Given the description of an element on the screen output the (x, y) to click on. 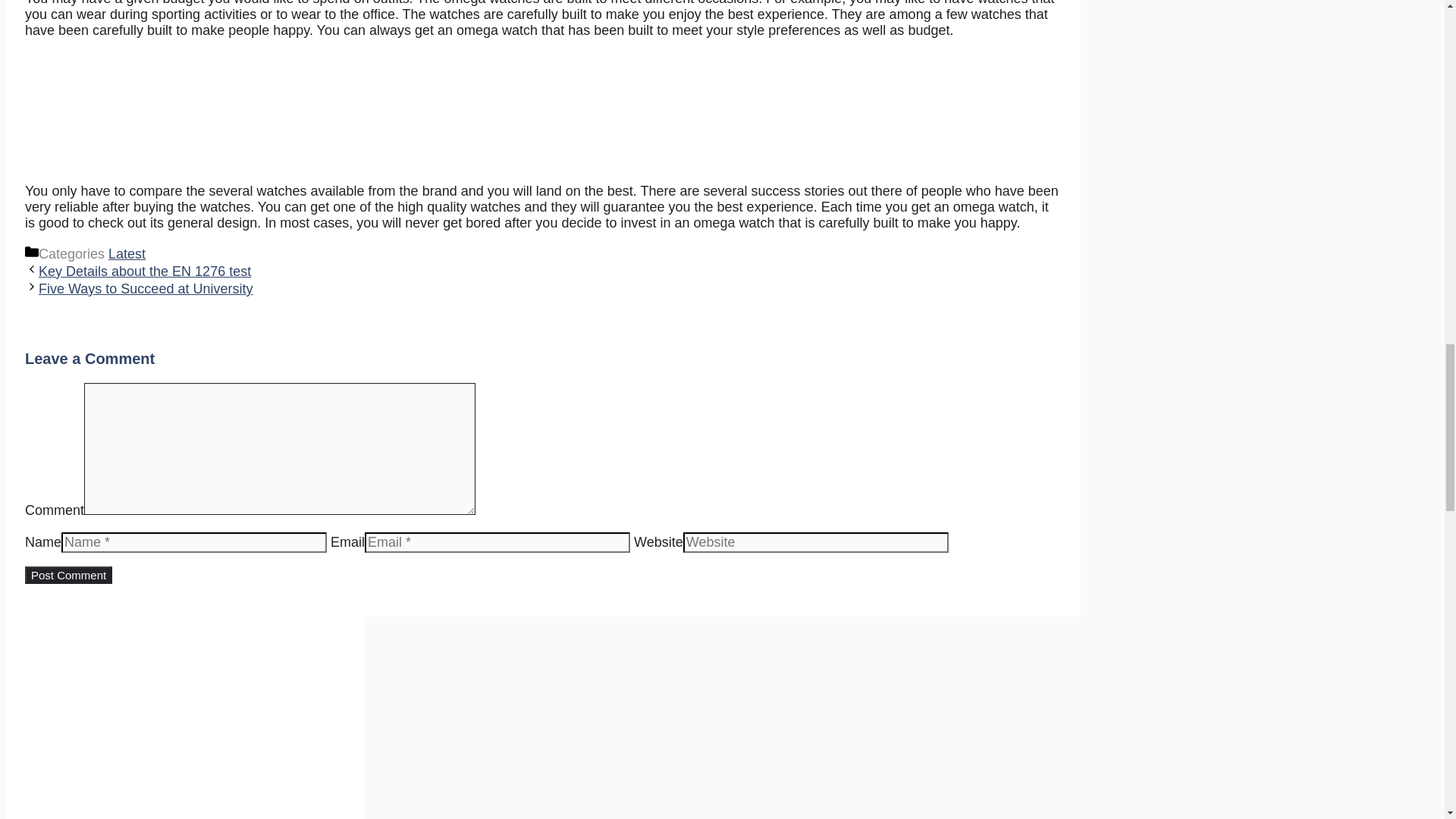
Post Comment (68, 574)
Five Ways to Succeed at University (145, 288)
Key Details about the EN 1276 test (144, 271)
Post Comment (68, 574)
Latest (126, 253)
